Given the description of an element on the screen output the (x, y) to click on. 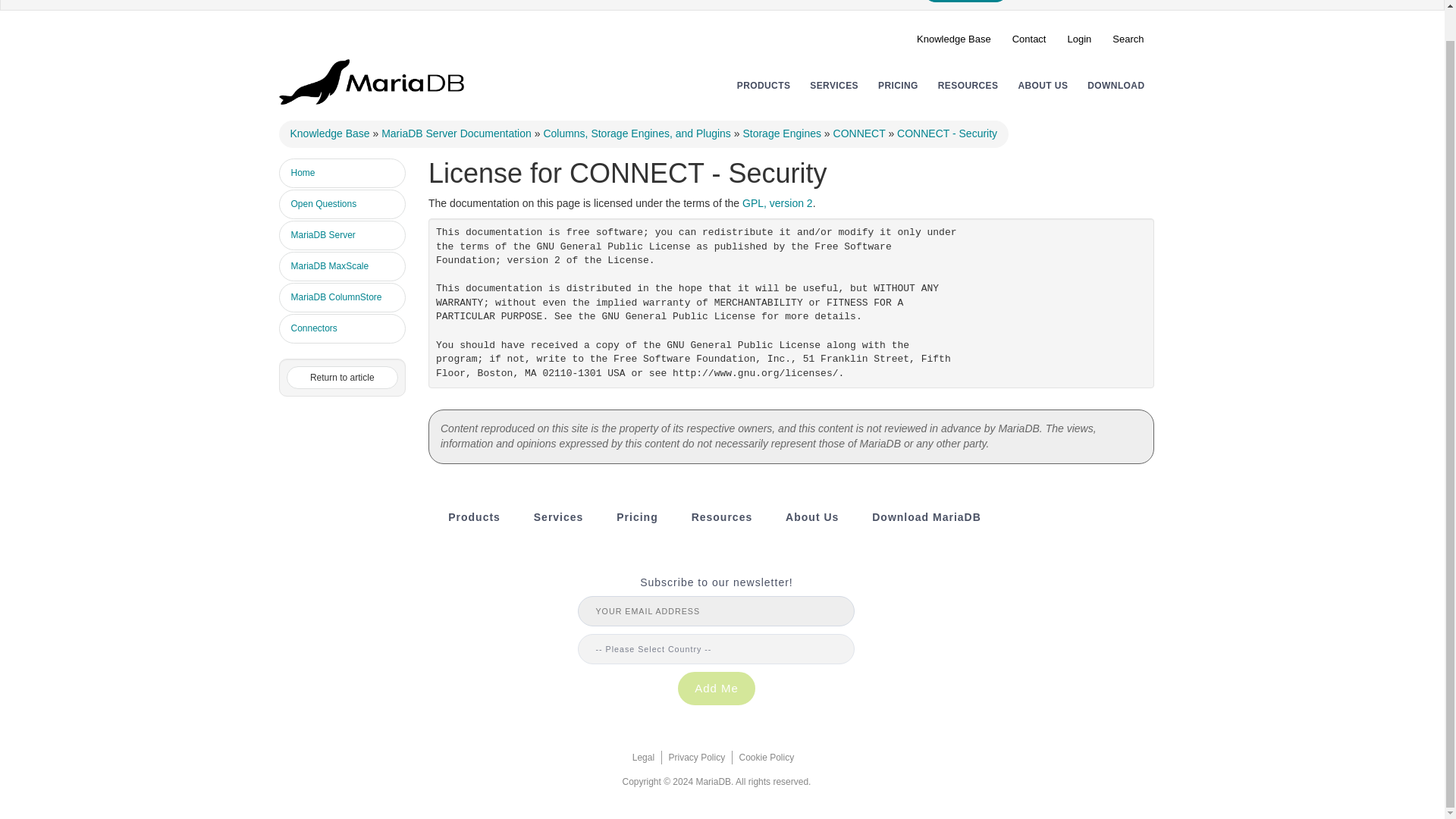
Products (474, 517)
MariaDB Server Documentation (456, 133)
SERVICES (834, 85)
MariaDB ColumnStore (342, 297)
Services (558, 517)
MariaDB (371, 80)
PRODUCTS (763, 85)
Return to article (342, 377)
About Us (1042, 85)
About MariaDB (812, 517)
Home (342, 173)
Connectors (342, 328)
CONNECT - Security (946, 133)
Storage Engines (781, 133)
Columns, Storage Engines, and Plugins (636, 133)
